Given the description of an element on the screen output the (x, y) to click on. 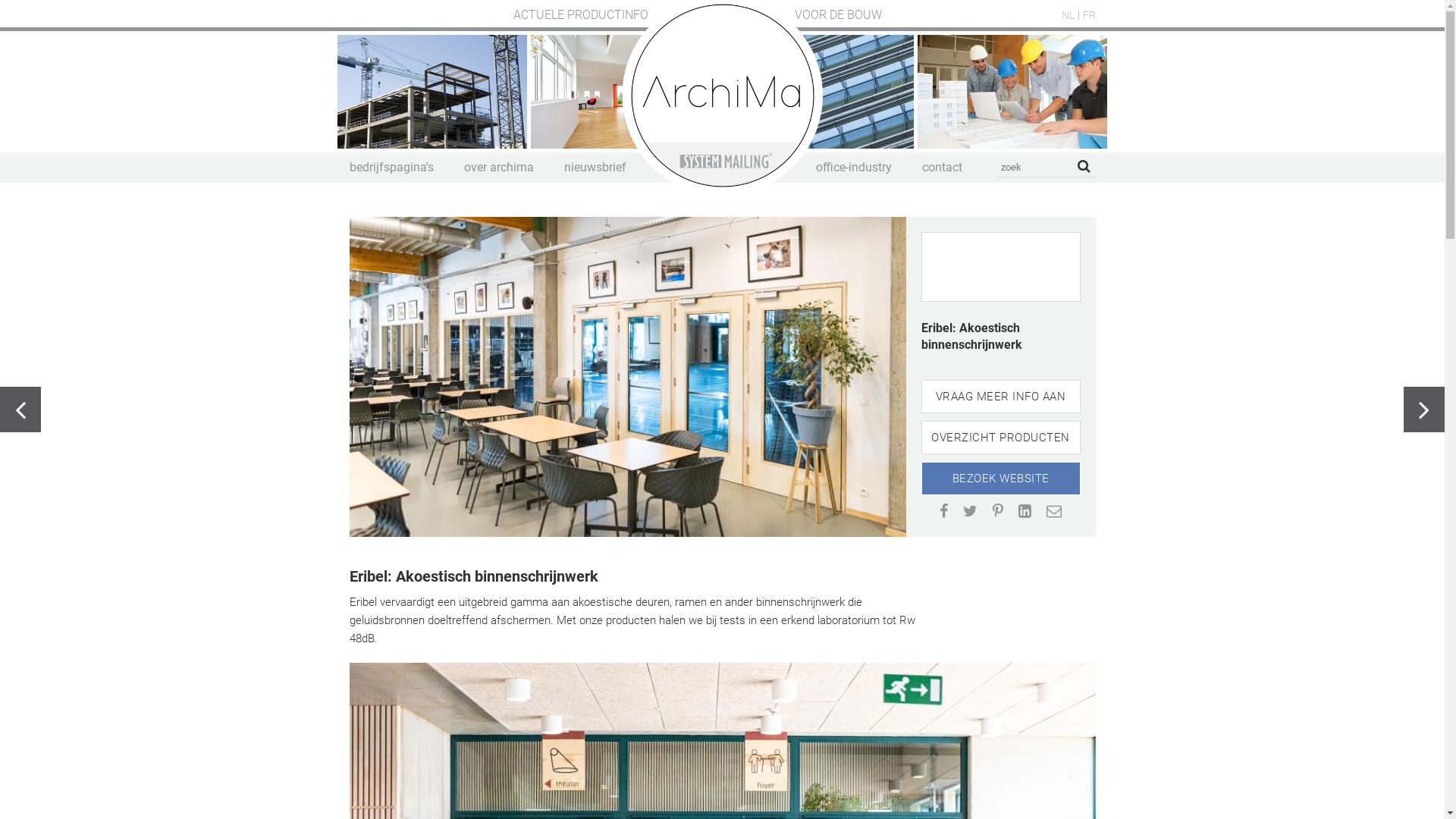
nieuwsbrief Element type: text (595, 167)
office-industry Element type: text (853, 167)
over archima Element type: text (498, 167)
Facebook Element type: hover (943, 511)
Twitter Element type: hover (970, 511)
BEZOEK WEBSITE Element type: text (999, 478)
/nl/eribel/329/eribel-brandwerend-binnenschrijnwerk/ Element type: hover (20, 409)
Pinterest Element type: hover (997, 511)
contact Element type: text (942, 167)
LinkedIn Element type: hover (1024, 511)
OVERZICHT PRODUCTEN Element type: text (999, 437)
FR Element type: text (1088, 15)
NL Element type: text (1067, 15)
bedrijfspagina's Element type: text (390, 167)
VRAAG MEER INFO AAN Element type: text (999, 396)
